Given the description of an element on the screen output the (x, y) to click on. 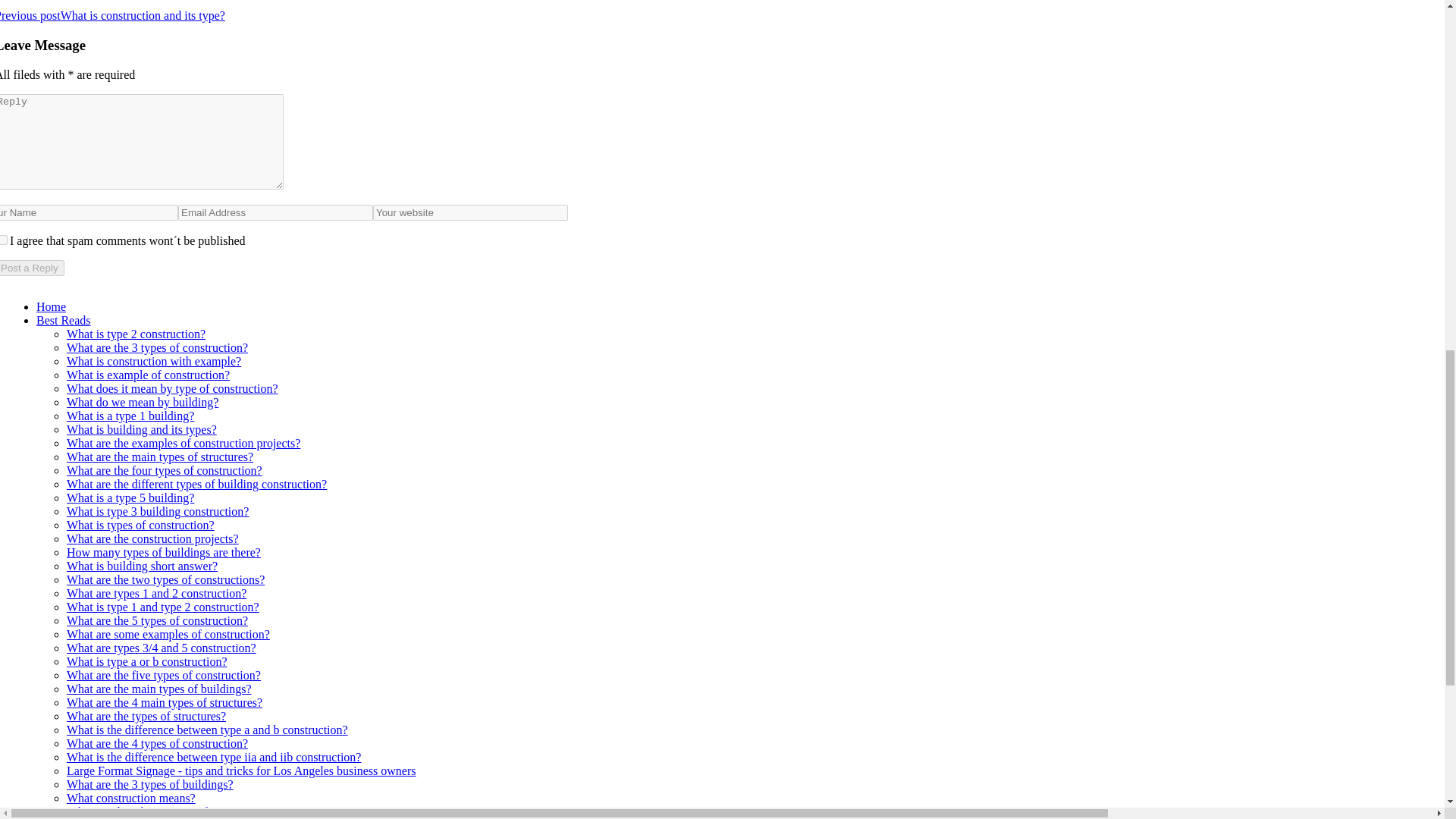
What are the 3 types of construction? (156, 347)
What is type 3 building construction? (157, 511)
What is building short answer? (141, 565)
What is construction with example? (153, 360)
Post a Reply (32, 268)
Home (50, 306)
What is building and its types? (141, 429)
How many types of buildings are there? (163, 552)
Best Reads (63, 319)
What are the different types of building construction? (196, 483)
